Given the description of an element on the screen output the (x, y) to click on. 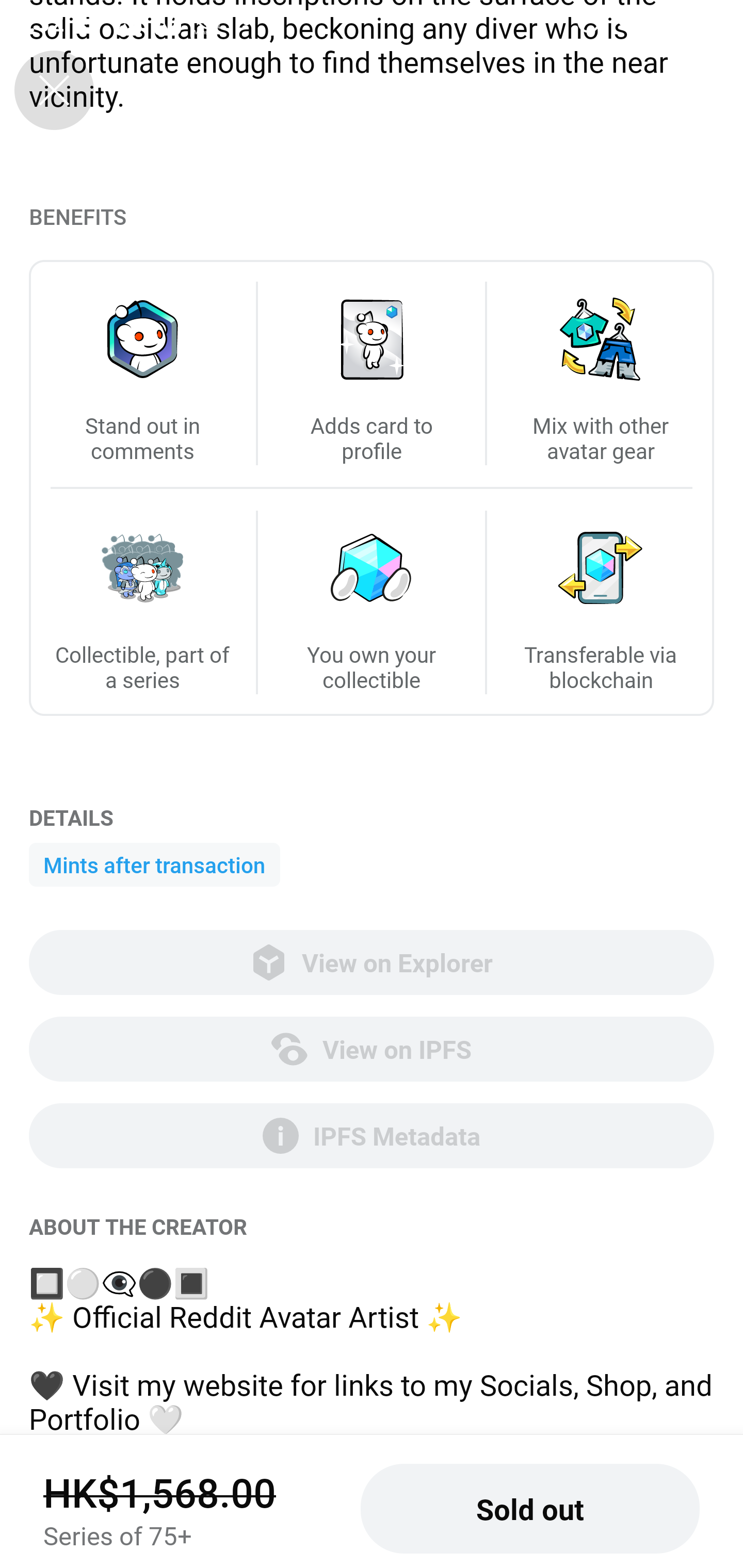
Close (53, 90)
View on Explorer (371, 962)
View on IPFS (371, 1048)
IPFS Metadata (371, 1135)
Sold out (529, 1508)
